Given the description of an element on the screen output the (x, y) to click on. 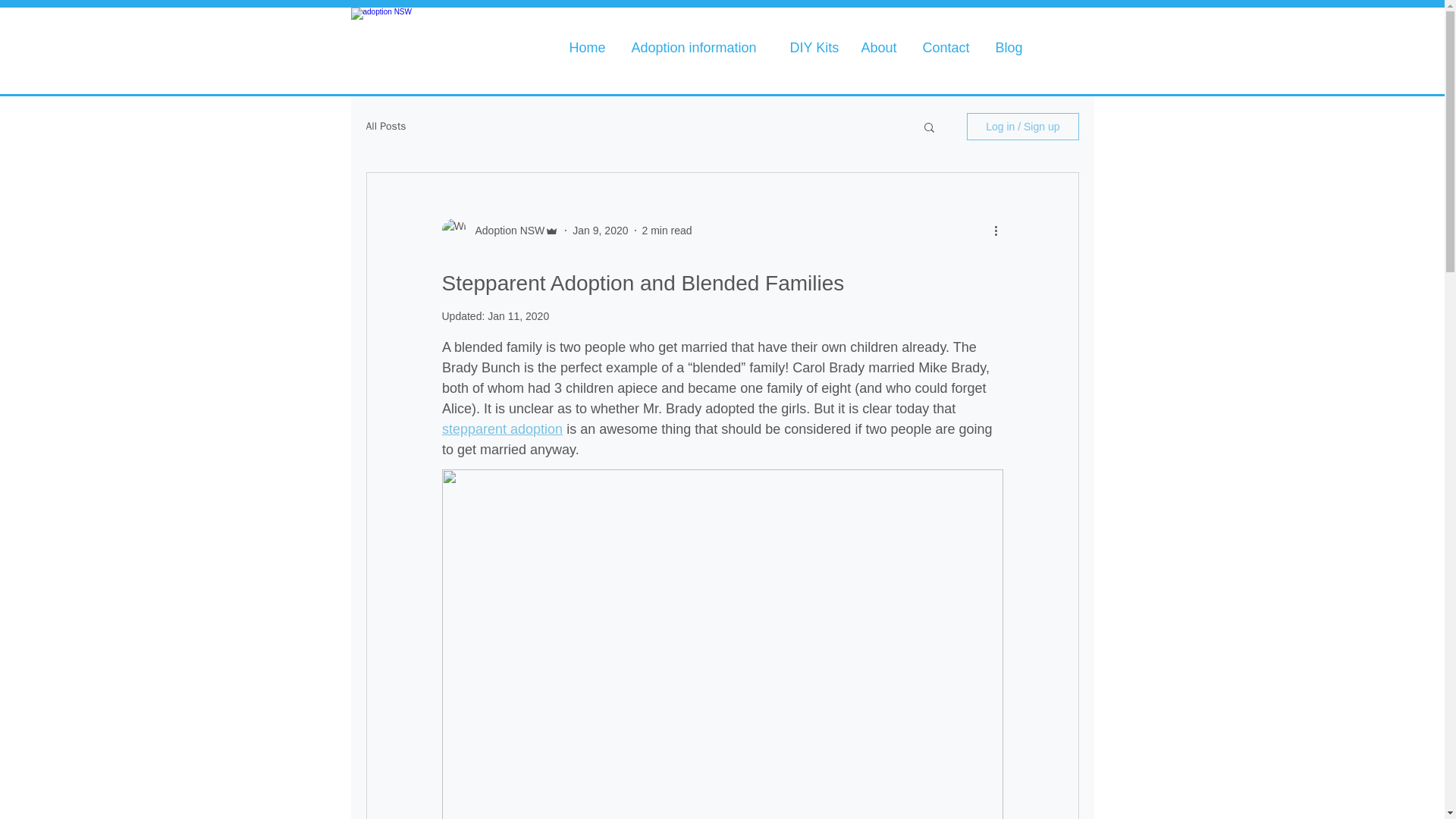
About (879, 47)
Adoption NSW (504, 230)
Adoption NSW logo (451, 47)
Adoption information (699, 47)
Jan 9, 2020 (599, 230)
stepparent adoption (501, 428)
2 min read (666, 230)
DIY Kits (812, 47)
Jan 11, 2020 (517, 316)
Contact (947, 47)
